Given the description of an element on the screen output the (x, y) to click on. 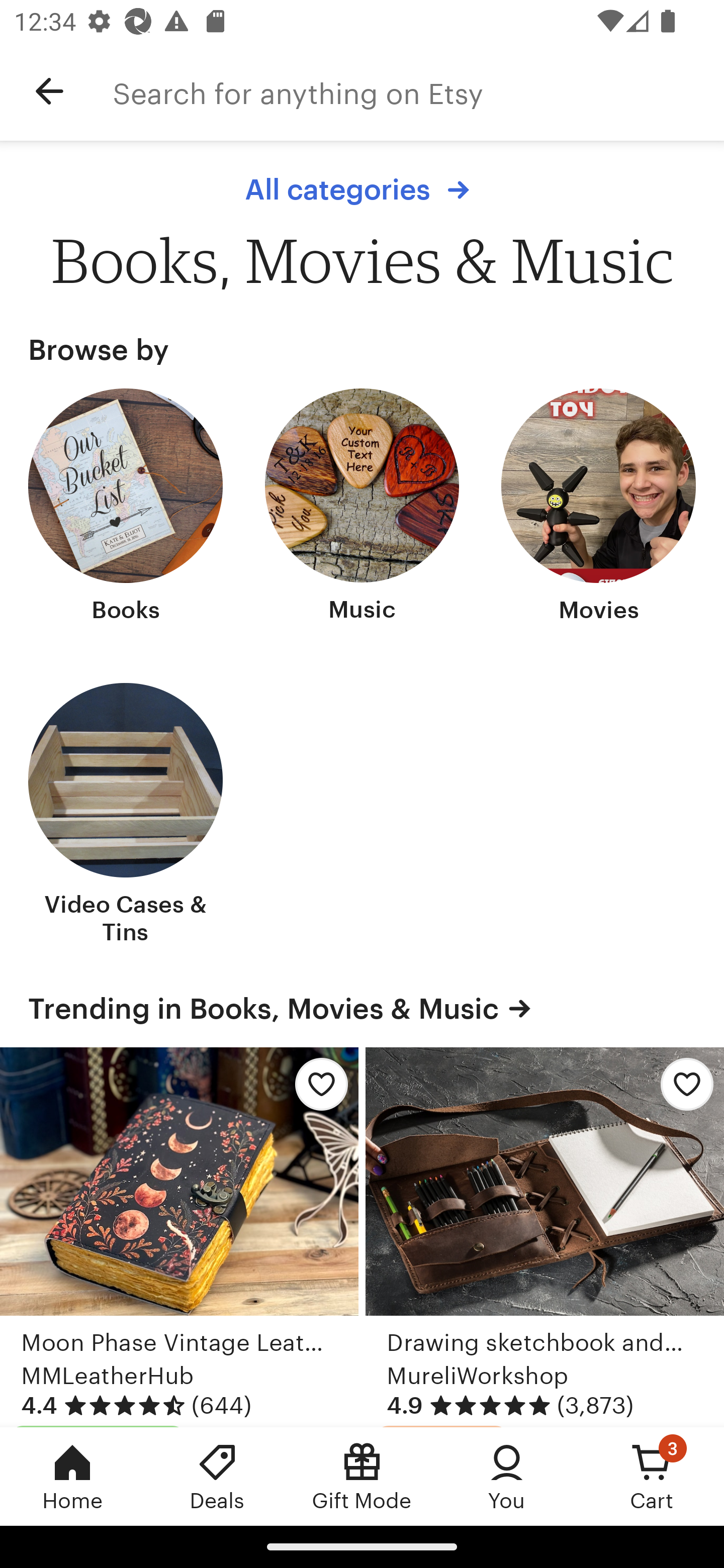
Navigate up (49, 91)
Search for anything on Etsy (418, 91)
All categories (361, 189)
Books (125, 507)
Music (361, 507)
Movies (598, 507)
Video Cases & Tins (125, 815)
Trending in Books, Movies & Music  (361, 1008)
Deals (216, 1475)
Gift Mode (361, 1475)
You (506, 1475)
Cart, 3 new notifications Cart (651, 1475)
